Given the description of an element on the screen output the (x, y) to click on. 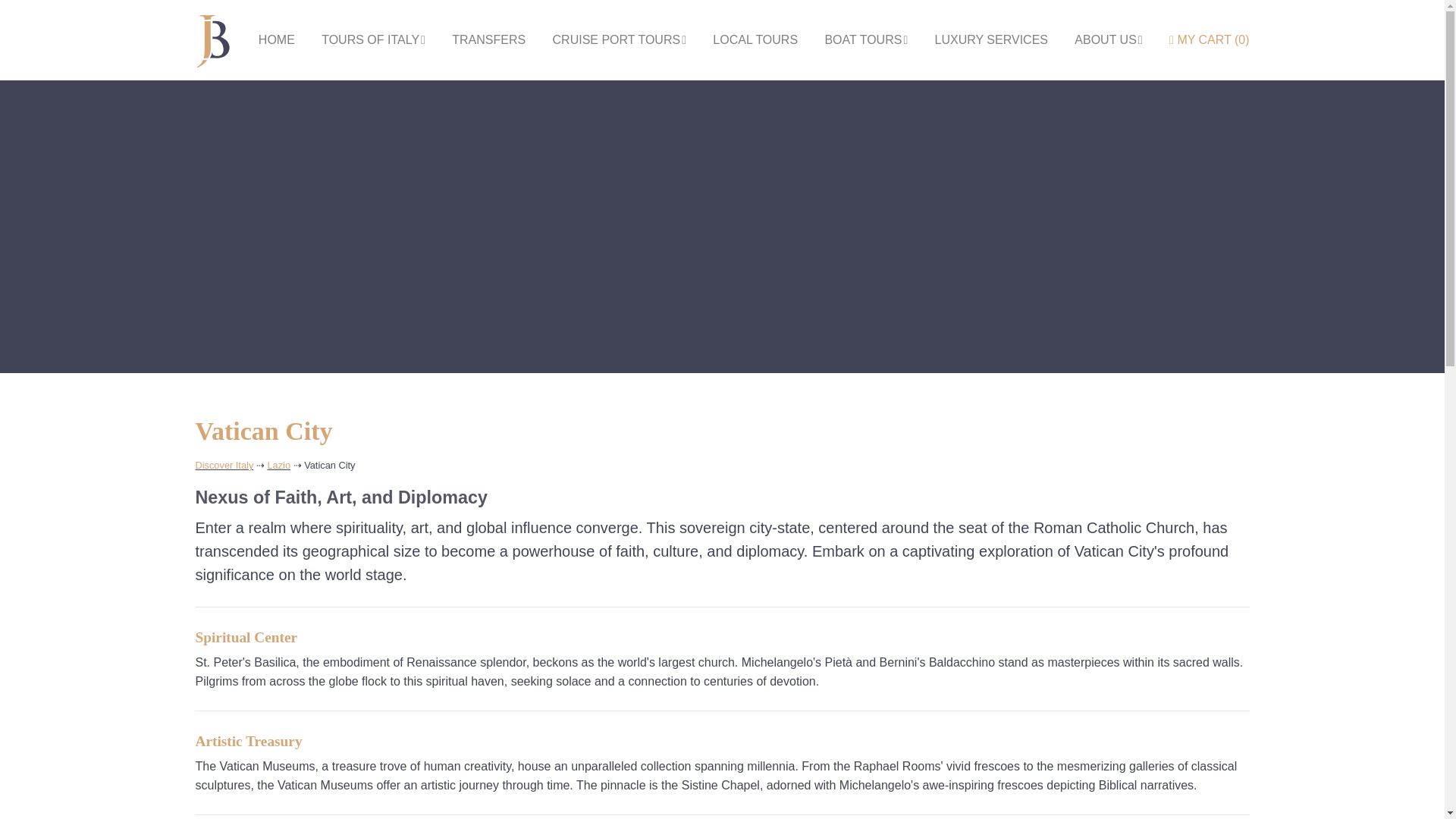
HOME (277, 39)
Discover Italy (224, 464)
Lazio (277, 464)
LOCAL TOURS (755, 39)
CRUISE PORT TOURS (619, 39)
ABOUT US (1107, 39)
BOAT TOURS (865, 39)
TRANSFERS (488, 39)
TOURS OF ITALY (373, 39)
LUXURY SERVICES (991, 39)
